Given the description of an element on the screen output the (x, y) to click on. 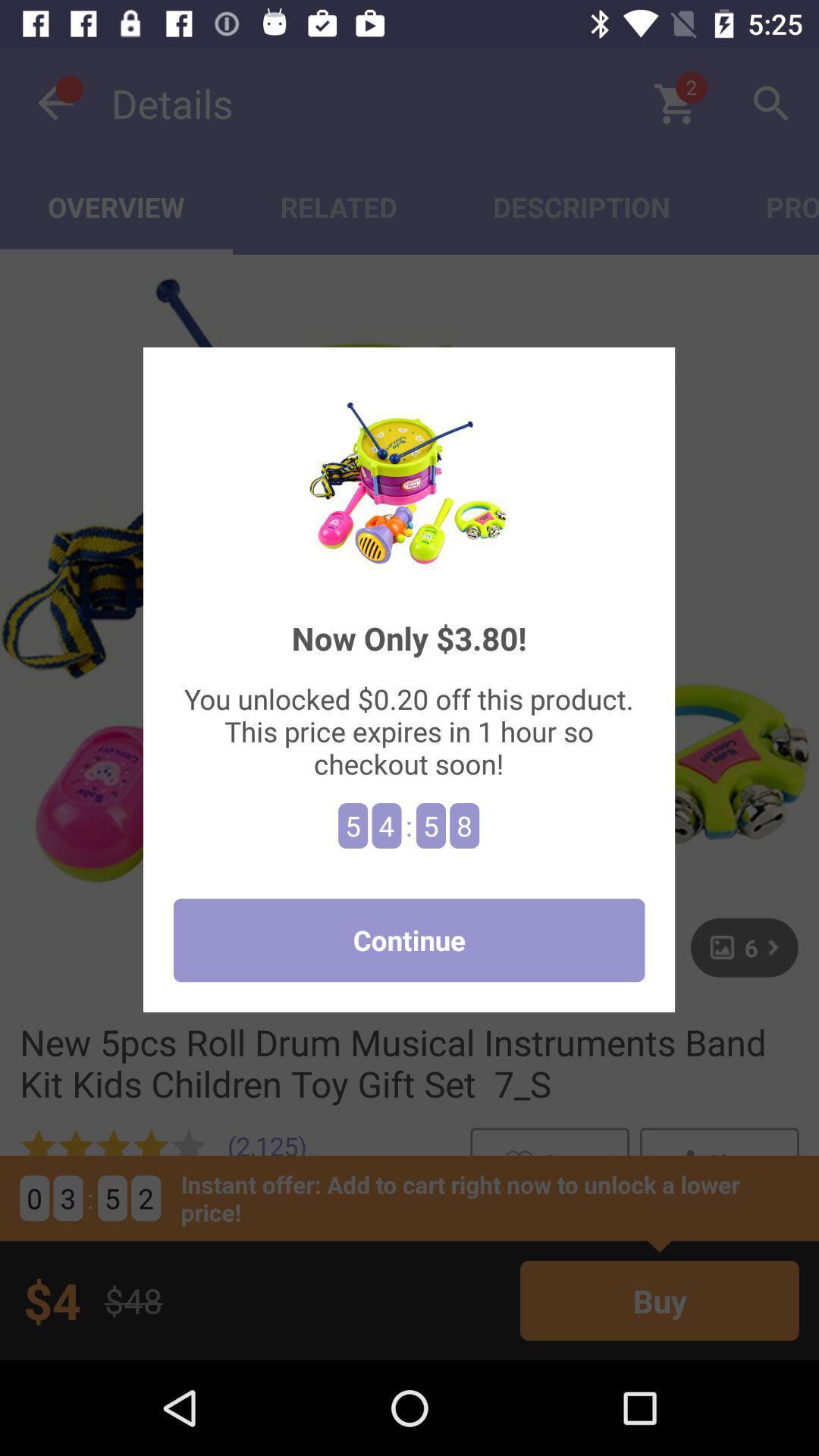
jump until continue icon (408, 940)
